Given the description of an element on the screen output the (x, y) to click on. 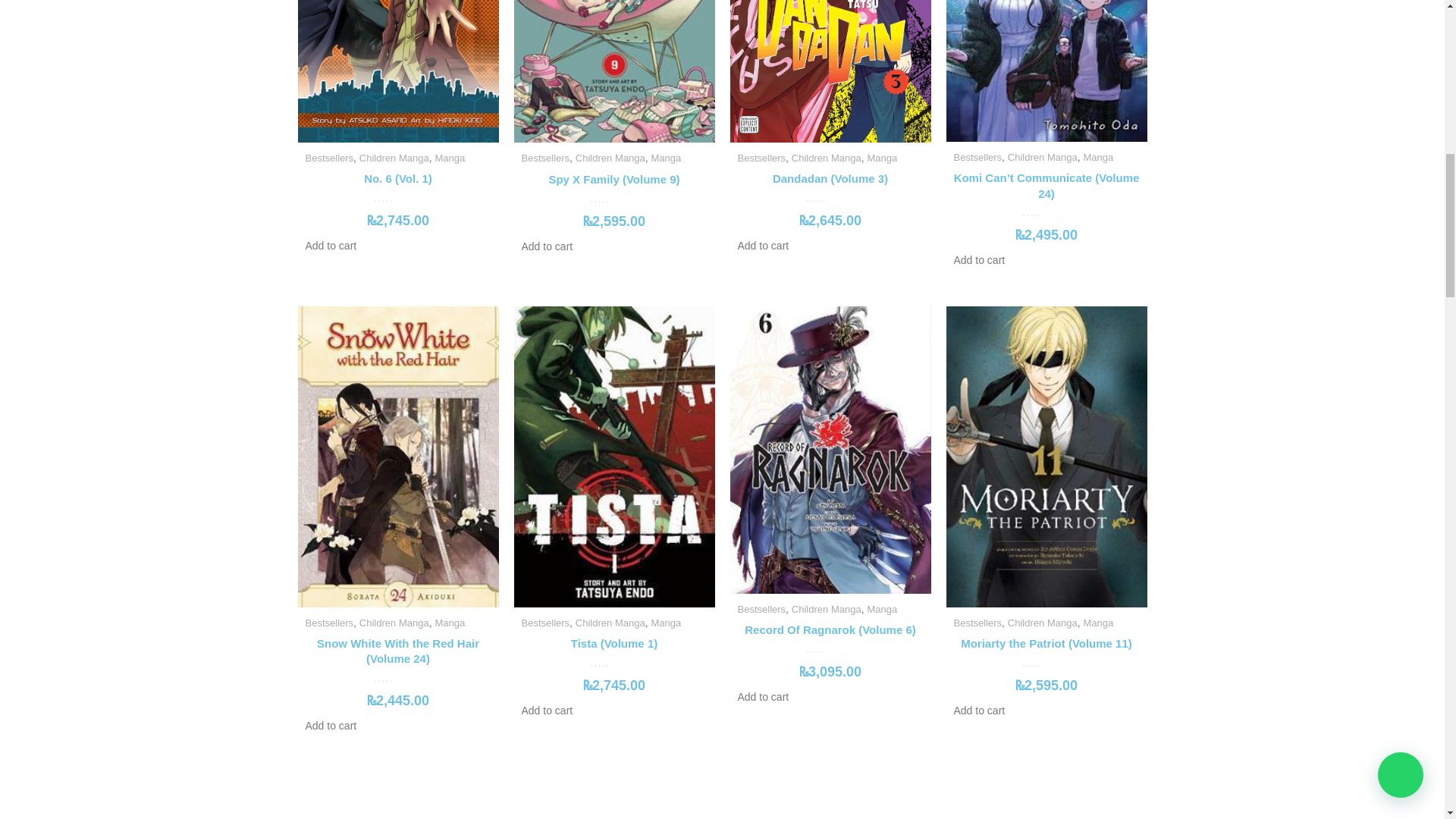
Manga (1098, 156)
Bestsellers (761, 157)
Bestsellers (545, 157)
Children Manga (394, 157)
Manga (448, 157)
Bestsellers (978, 156)
Bestsellers (328, 157)
Children Manga (610, 157)
Manga (665, 157)
Children Manga (1042, 156)
